Given the description of an element on the screen output the (x, y) to click on. 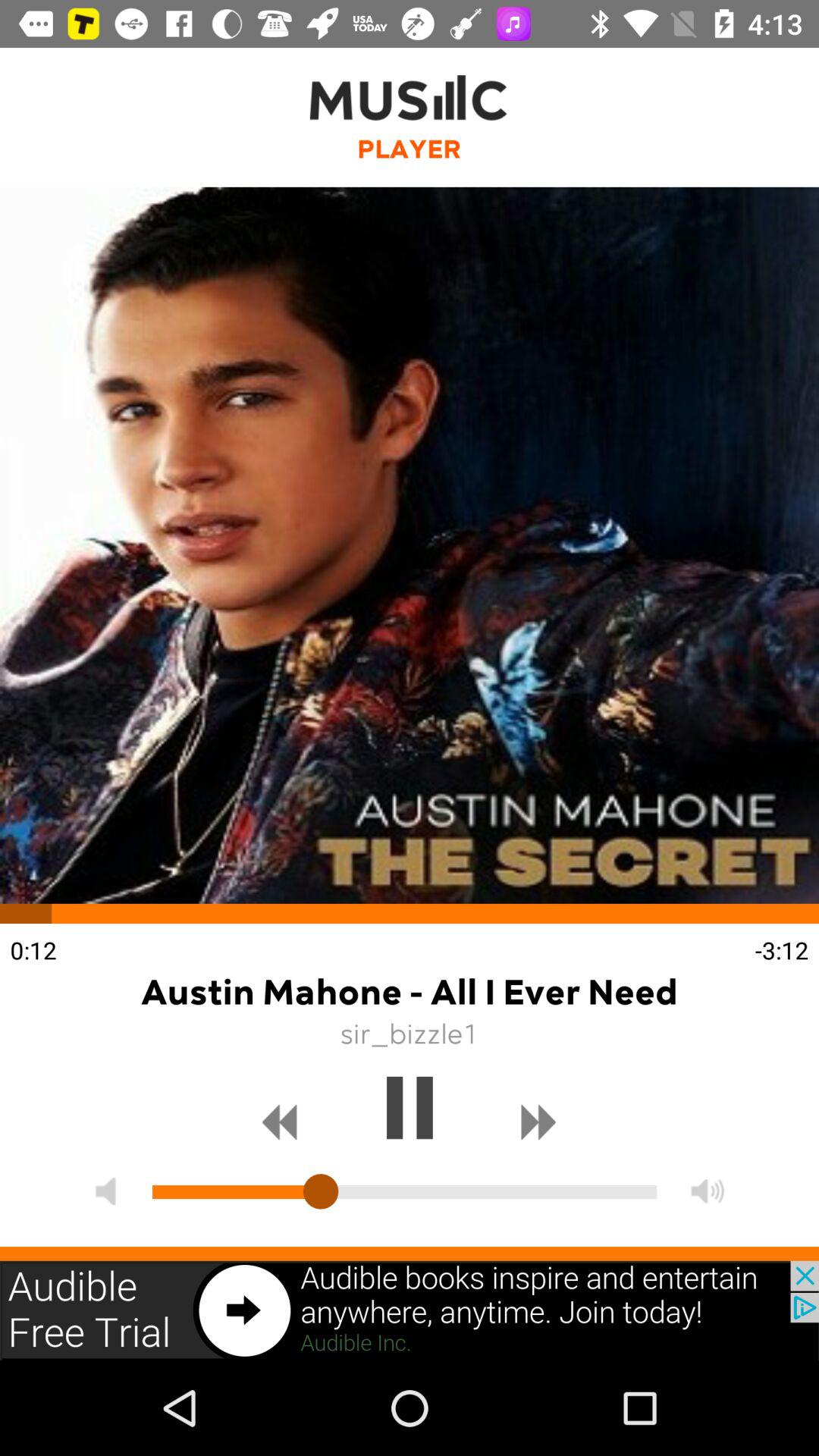
advertisement (409, 1310)
